Given the description of an element on the screen output the (x, y) to click on. 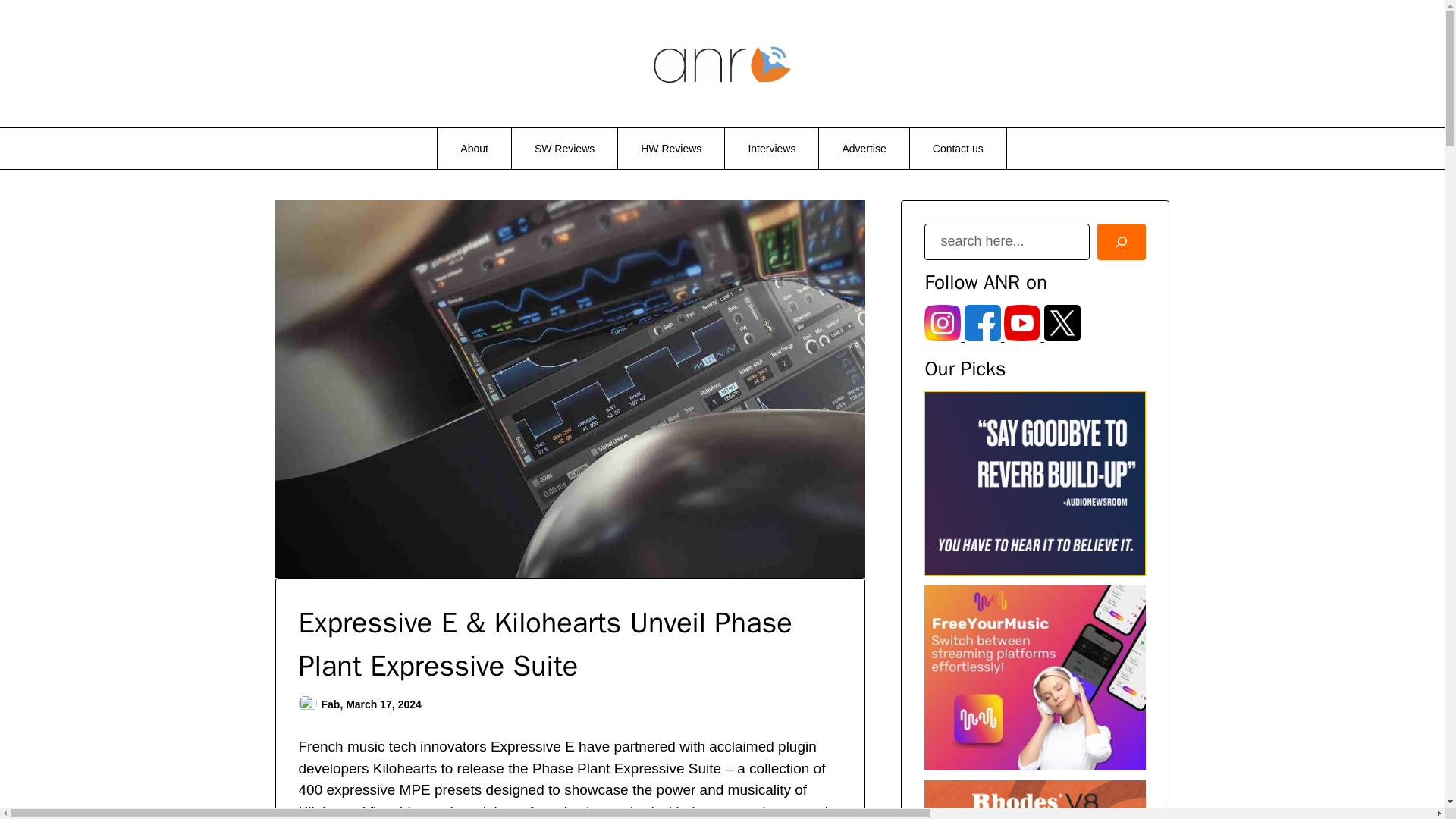
About (474, 147)
SW Reviews (564, 147)
March 17, 2024 (384, 704)
Interviews (771, 147)
HW Reviews (670, 147)
Contact us (958, 147)
Advertise (863, 147)
